Given the description of an element on the screen output the (x, y) to click on. 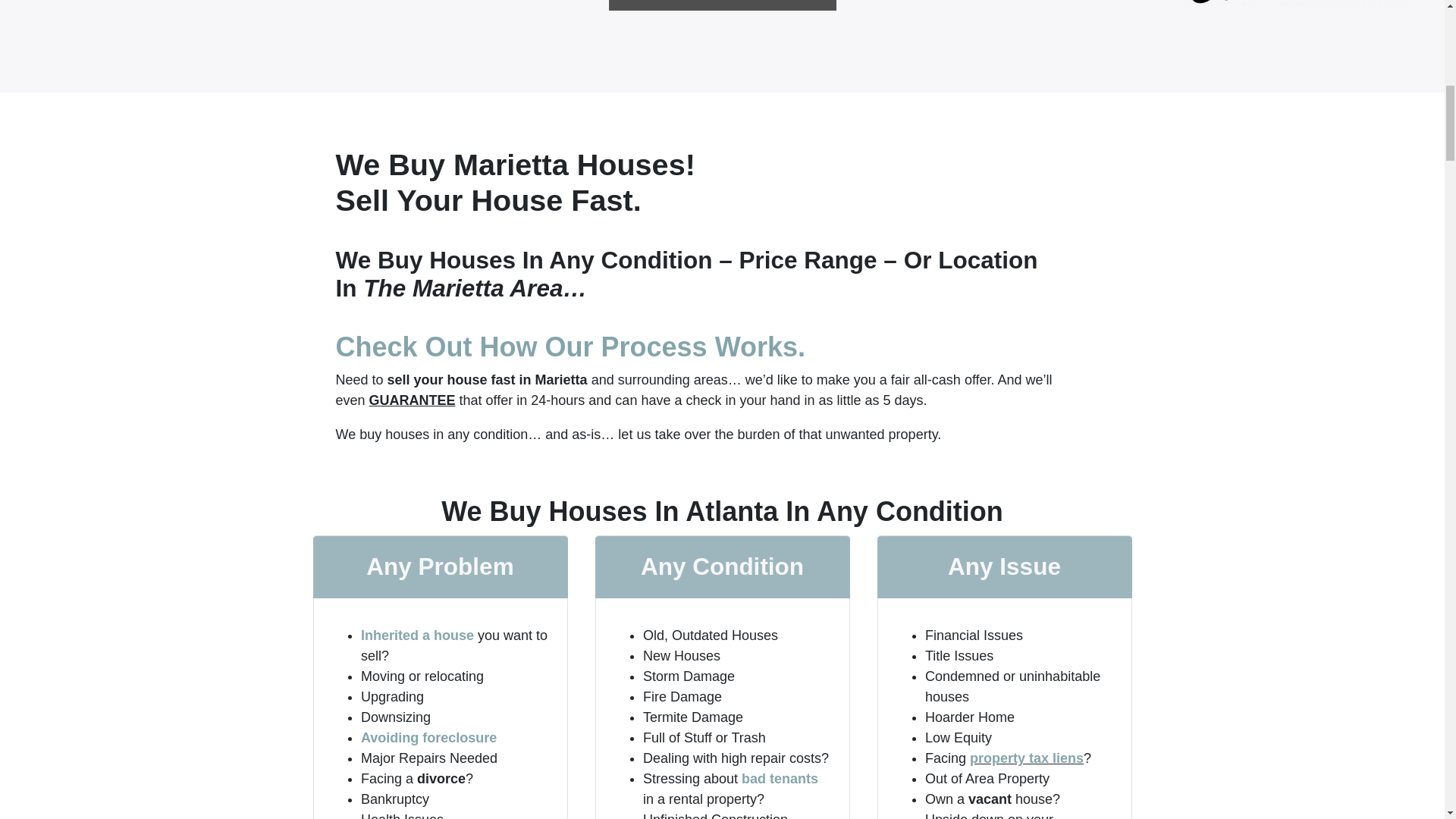
property tax liens (1026, 758)
Check Out How Our Process Works. (569, 346)
Inherited a house (417, 635)
Avoiding foreclosure (428, 737)
bad tenants (779, 778)
